Given the description of an element on the screen output the (x, y) to click on. 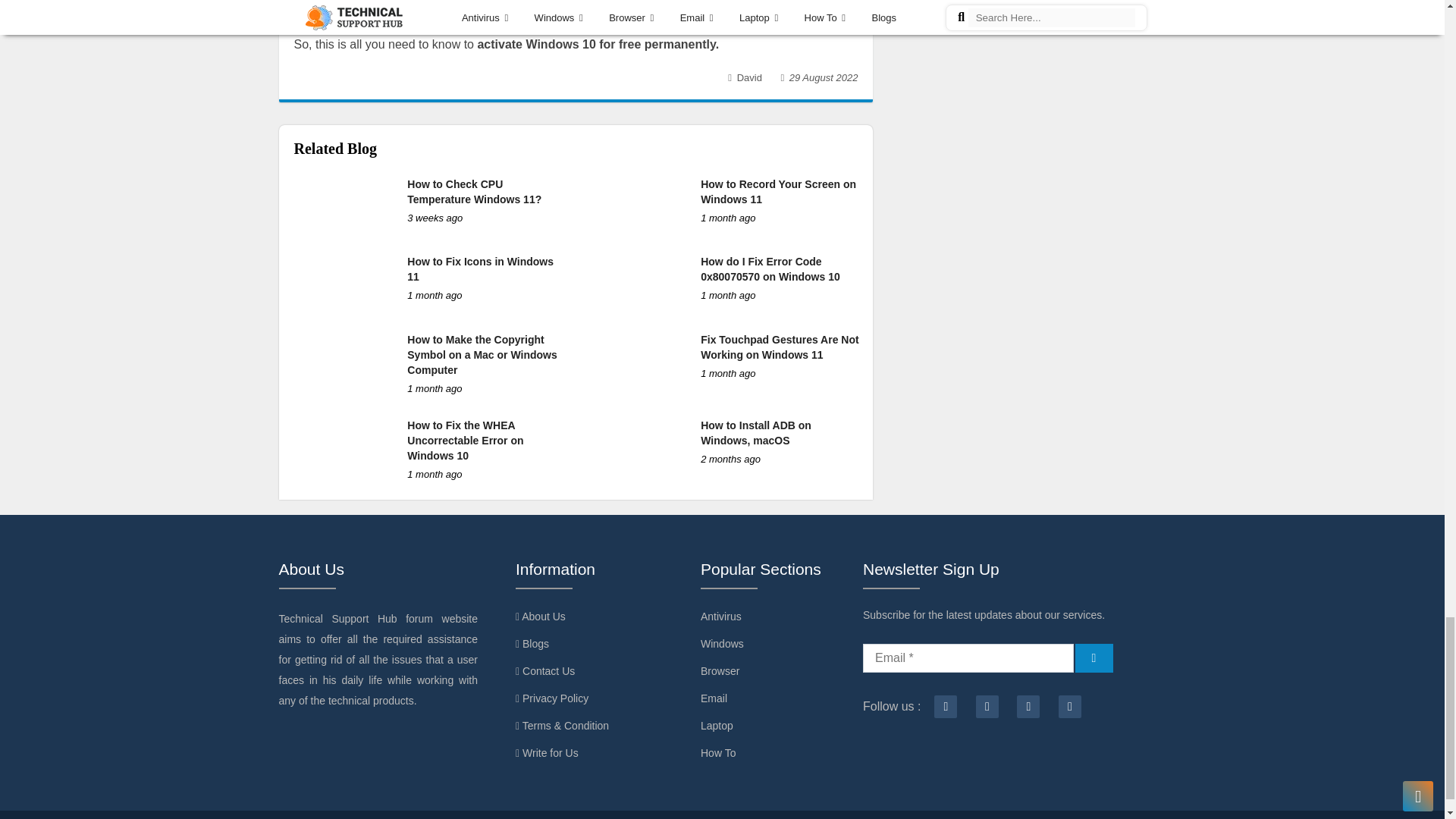
How to Fix Icons in Windows 11 (480, 268)
How to Check CPU Temperature Windows 11? (474, 191)
How to Fix the WHEA Uncorrectable Error on Windows 10 (464, 440)
Fix Touchpad Gestures Are Not Working on Windows 11 (779, 347)
How to Record Your Screen on Windows 11 (778, 191)
How do I Fix Error Code 0x80070570 on Windows 10 (770, 268)
How to Install ADB on Windows, macOS (755, 432)
